Given the description of an element on the screen output the (x, y) to click on. 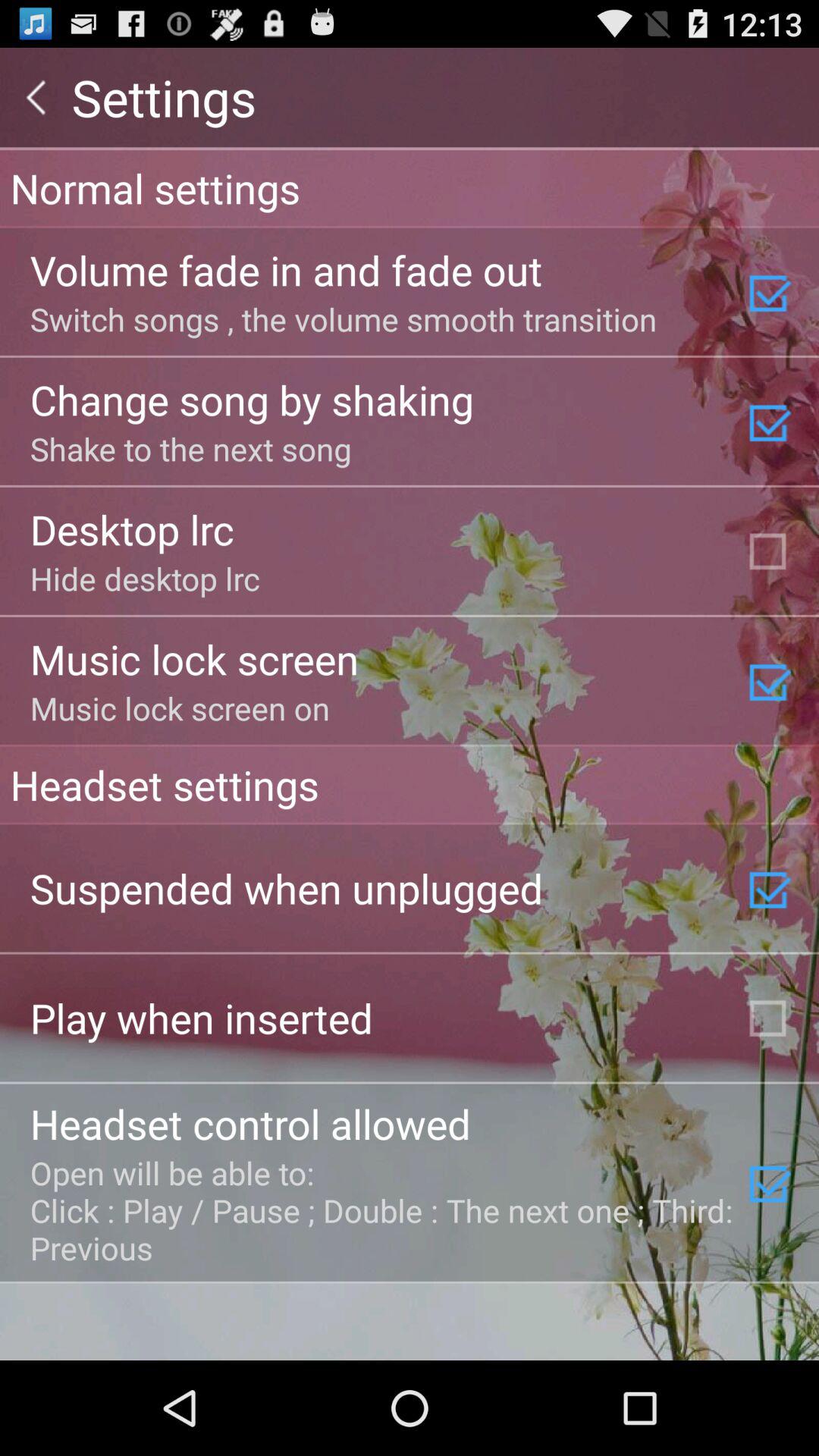
open the switch songs the item (343, 318)
